Given the description of an element on the screen output the (x, y) to click on. 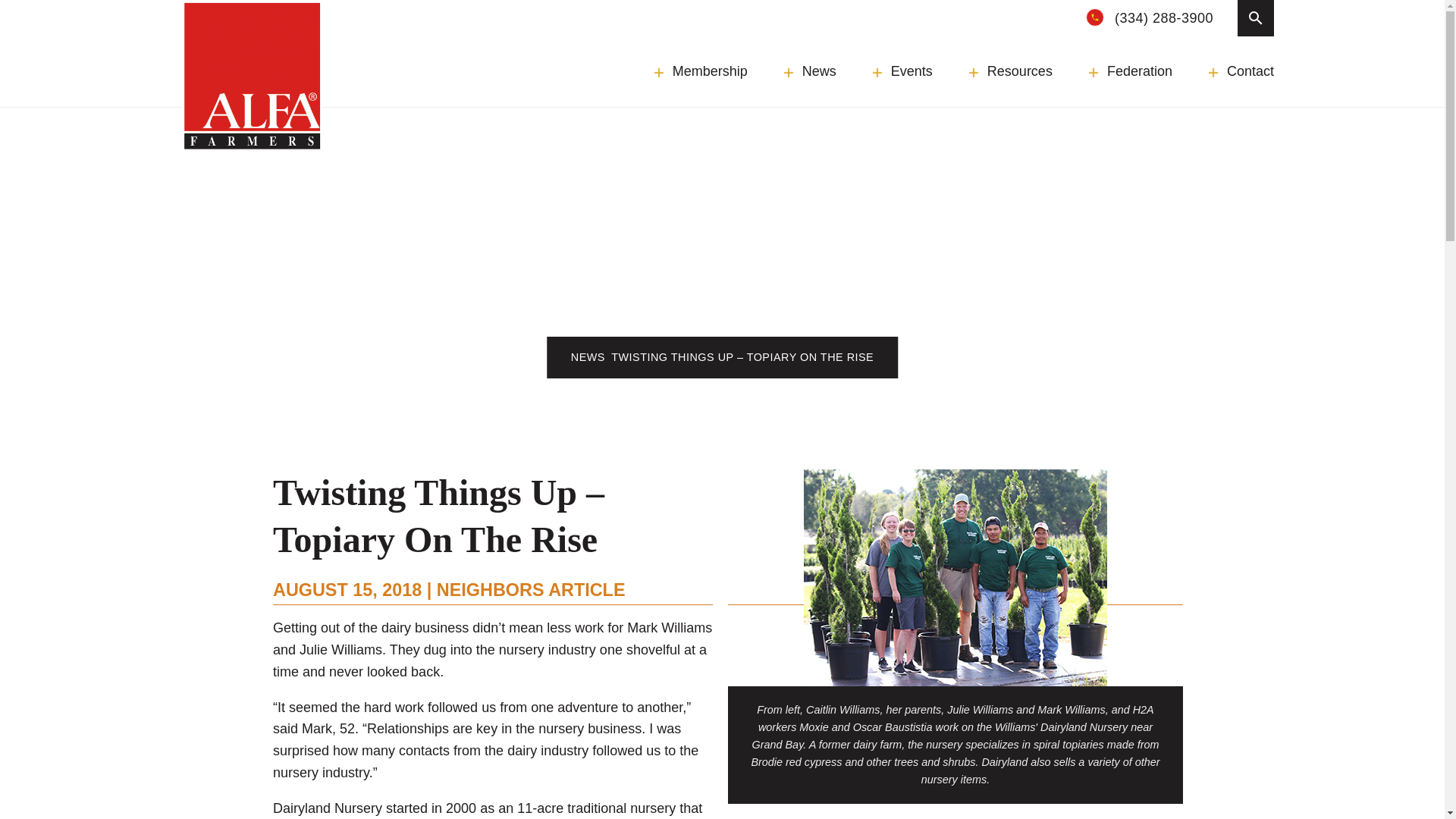
Alabama Farmers Federation (251, 75)
Alabama Farmers Federation (251, 75)
Search (416, 12)
Federation (1130, 71)
Events (902, 71)
Resources (1010, 71)
News (809, 71)
Search (1255, 18)
Membership (700, 71)
Contact (1241, 71)
